Given the description of an element on the screen output the (x, y) to click on. 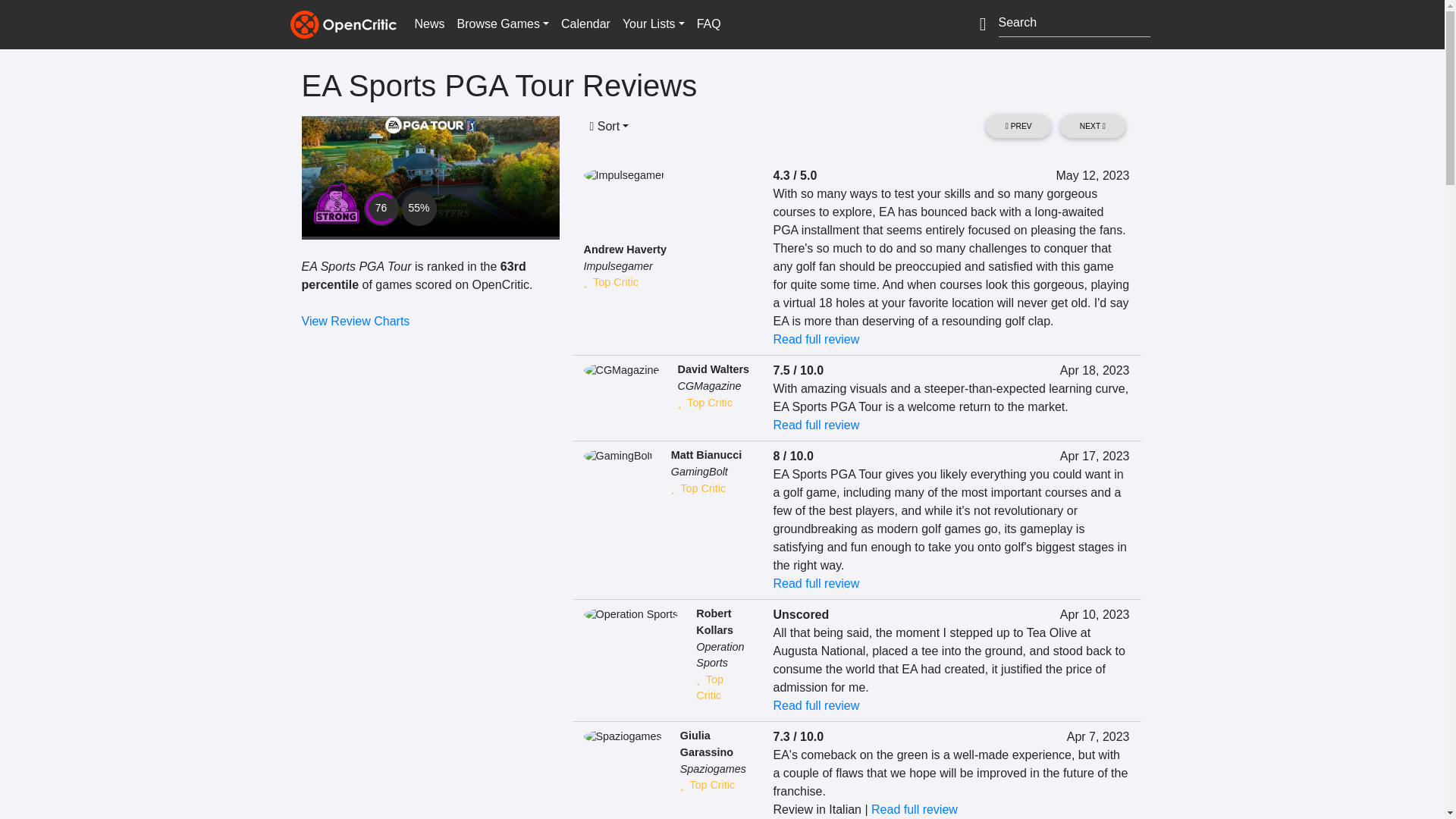
NEXT (1091, 126)
Read full review (816, 338)
Calendar (584, 24)
PREV (1018, 126)
David Walters (713, 369)
News (428, 24)
Read full review (816, 424)
Browse Games (502, 24)
CGMagazine (709, 386)
FAQ (708, 24)
Impulsegamer (617, 265)
Your Lists (652, 24)
Andrew Haverty (624, 249)
View Review Charts (355, 320)
